Given the description of an element on the screen output the (x, y) to click on. 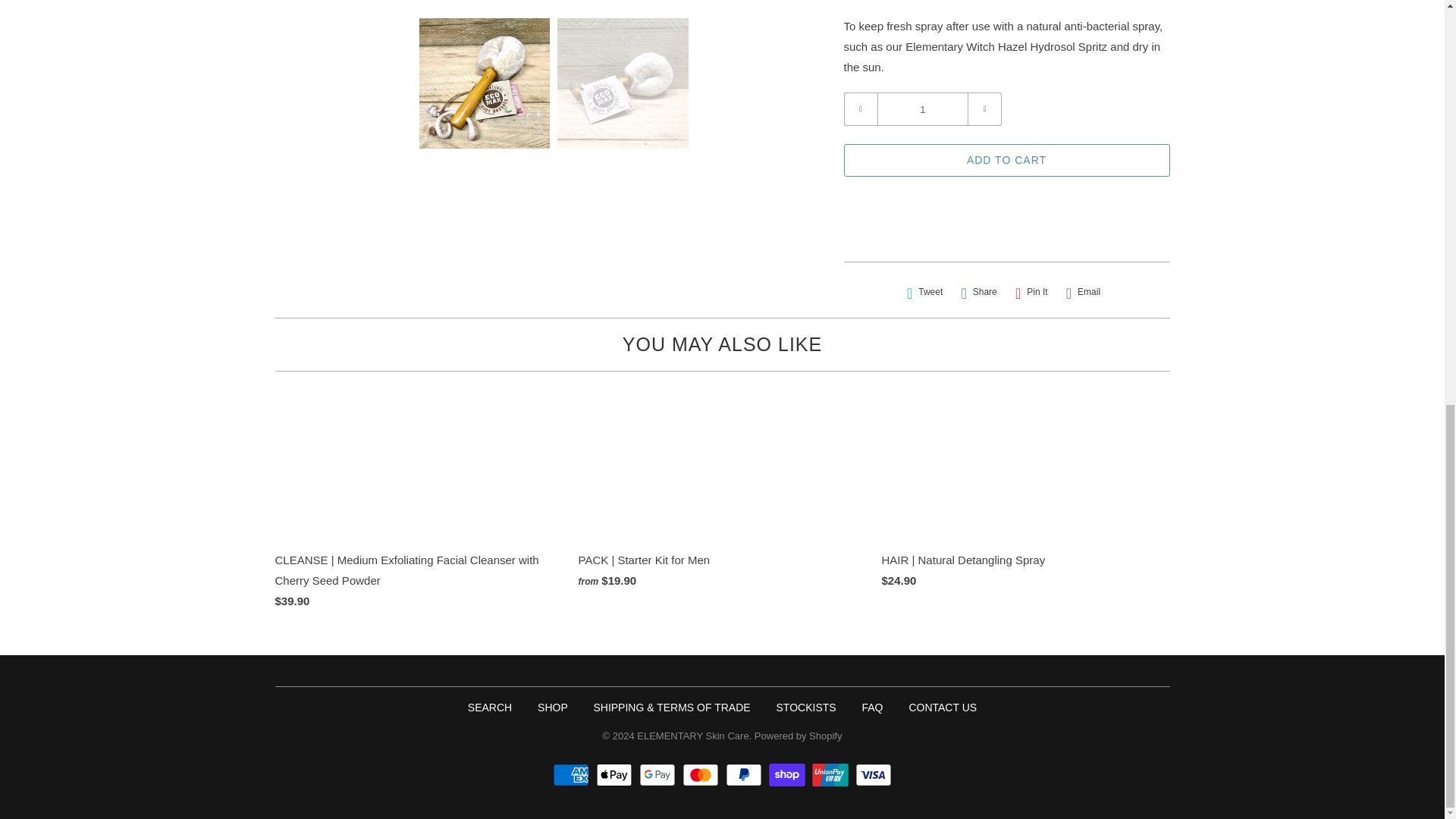
1 (922, 109)
Mastercard (702, 774)
Tweet (924, 292)
Union Pay (831, 774)
Apple Pay (615, 774)
Shop Pay (788, 774)
PayPal (745, 774)
Visa (873, 774)
ADD TO CART (1006, 160)
Google Pay (659, 774)
